Given the description of an element on the screen output the (x, y) to click on. 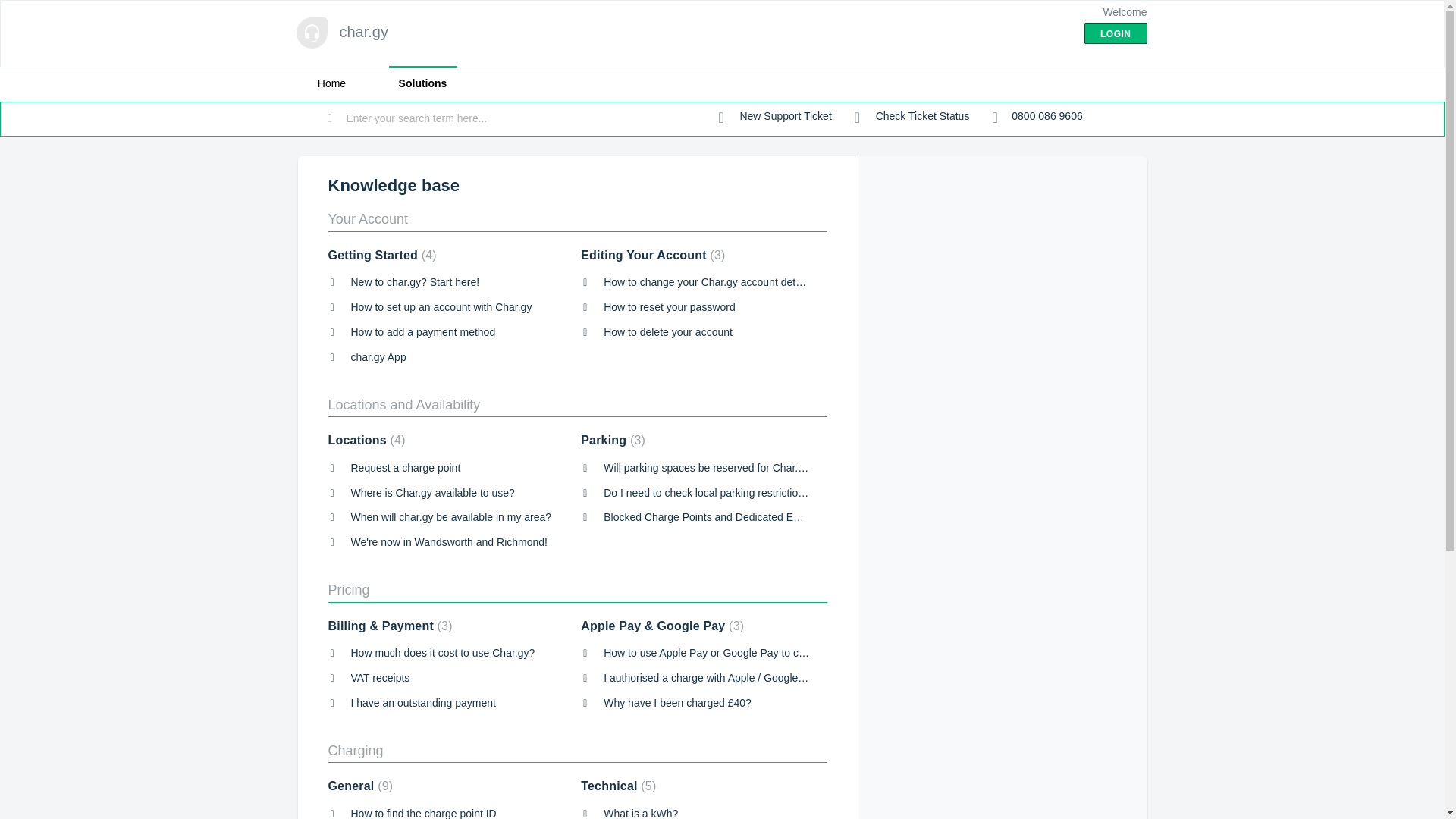
How to use Apple Pay or Google Pay to charge your car (735, 653)
How to reset your password (669, 306)
0800 086 9606 (1036, 117)
Request a charge point (405, 467)
How to add a payment method (422, 331)
Your Account (367, 218)
Locations (365, 440)
Home (331, 83)
Parking (612, 440)
New Support Ticket (775, 116)
Do I need to check local parking restrictions? (709, 492)
How to delete your account (668, 331)
Editing Your Account 3 (652, 254)
I have an outstanding payment (422, 702)
Getting Started 4 (381, 254)
